Given the description of an element on the screen output the (x, y) to click on. 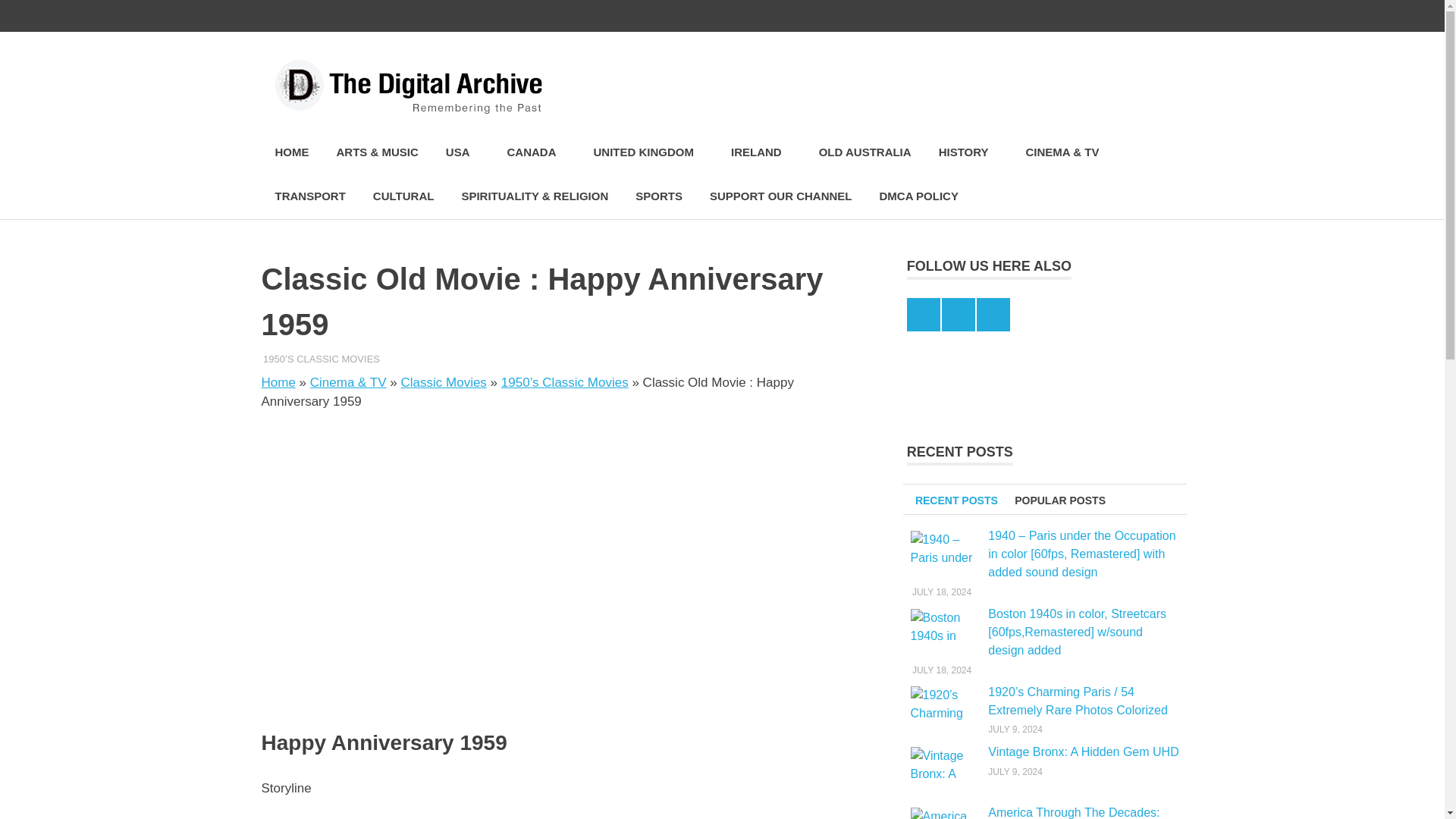
Vintage Bronx: A Hidden Gem UHD (944, 765)
Feed (1166, 15)
IRELAND (761, 152)
HOME (290, 152)
tumblr (1135, 15)
CANADA (536, 152)
View all posts by geetu (280, 358)
1:44 pm (304, 358)
OLD AUSTRALIA (864, 152)
F (1103, 15)
UNITED KINGDOM (648, 152)
Classic Movies (443, 382)
USA (462, 152)
Home (277, 382)
HISTORY (967, 152)
